Given the description of an element on the screen output the (x, y) to click on. 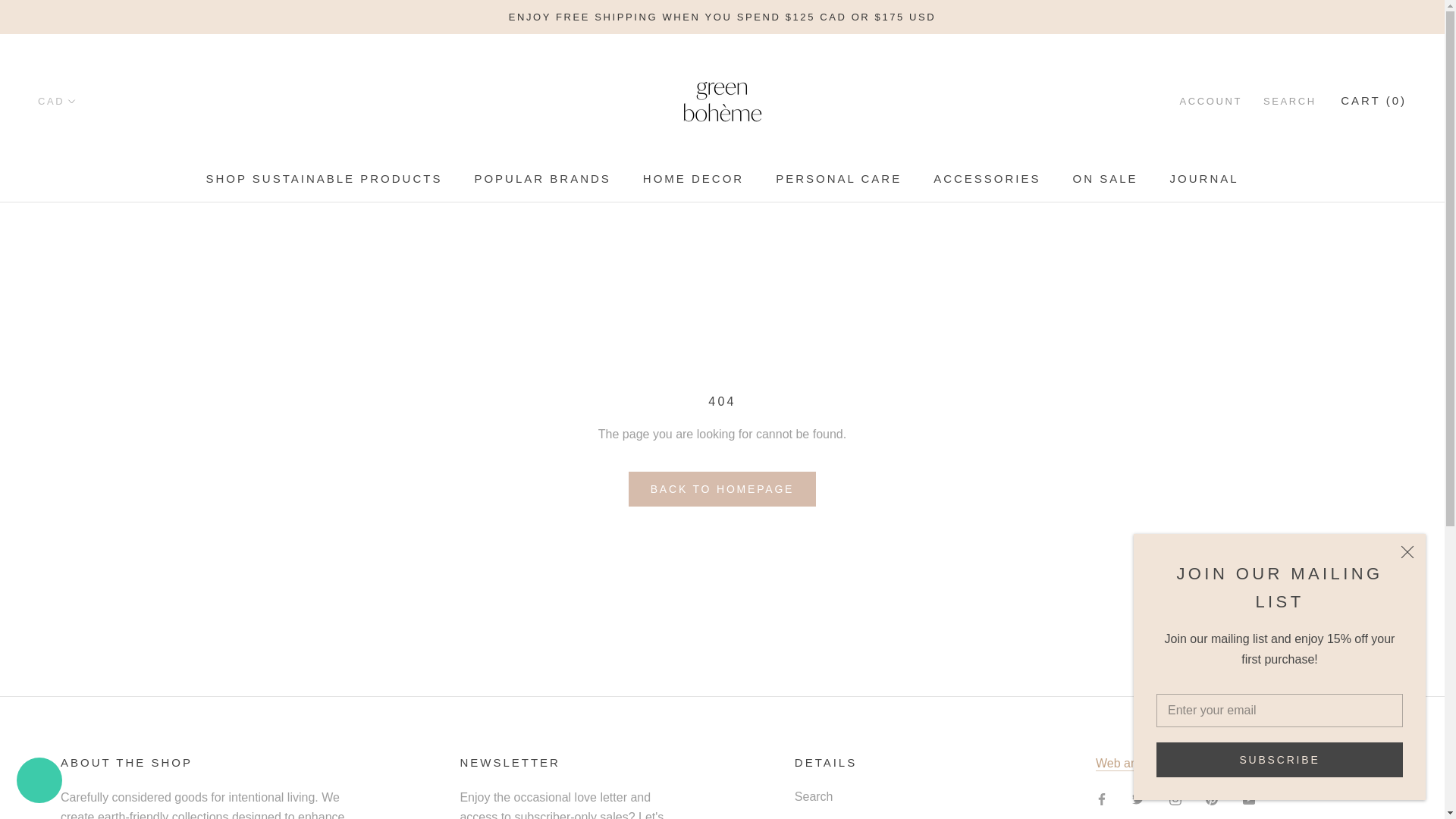
SUBSCRIBE (1279, 759)
Currency selector (57, 101)
Shopify online store chat (38, 781)
